Given the description of an element on the screen output the (x, y) to click on. 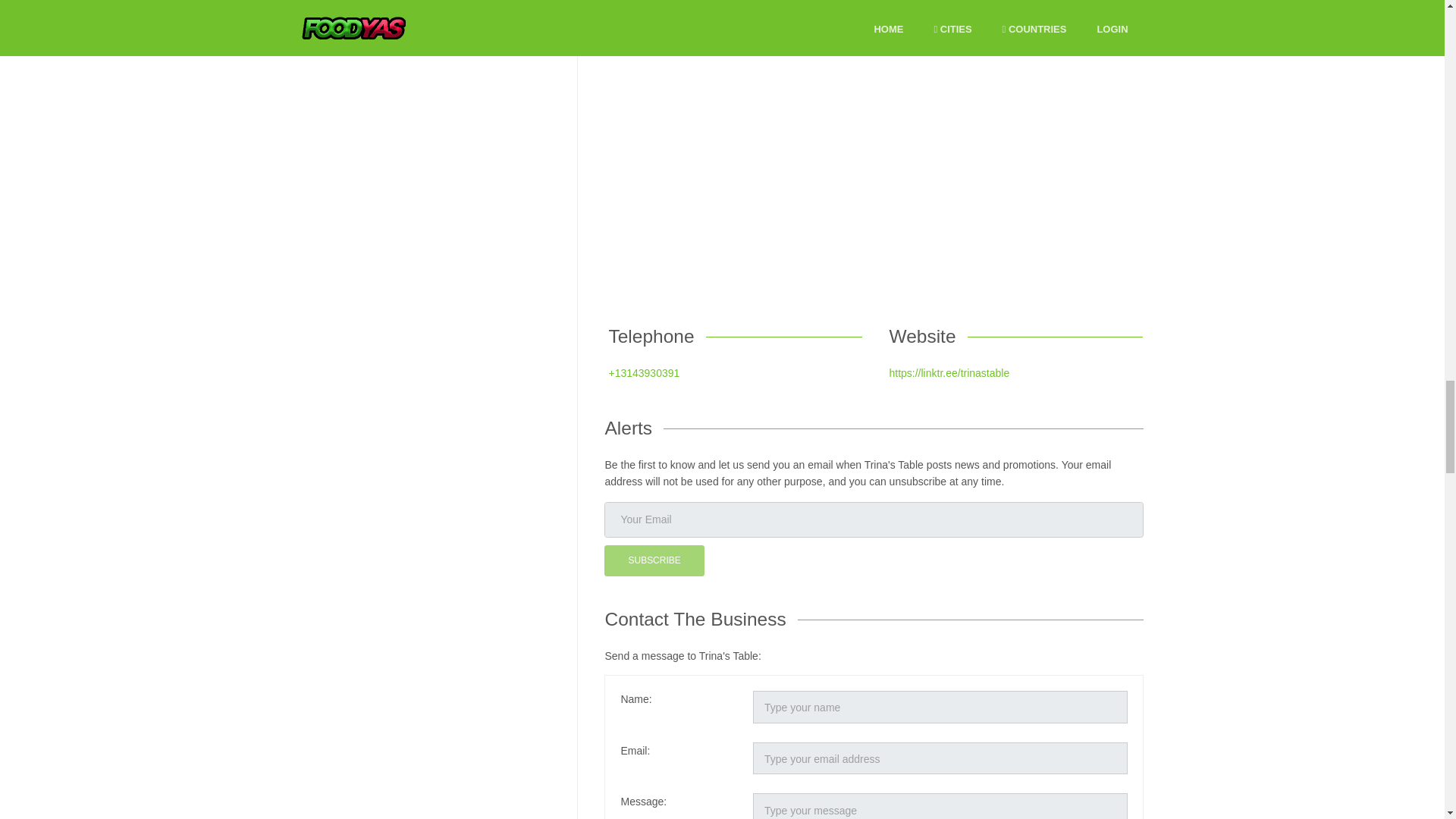
SUBSCRIBE (653, 560)
